Given the description of an element on the screen output the (x, y) to click on. 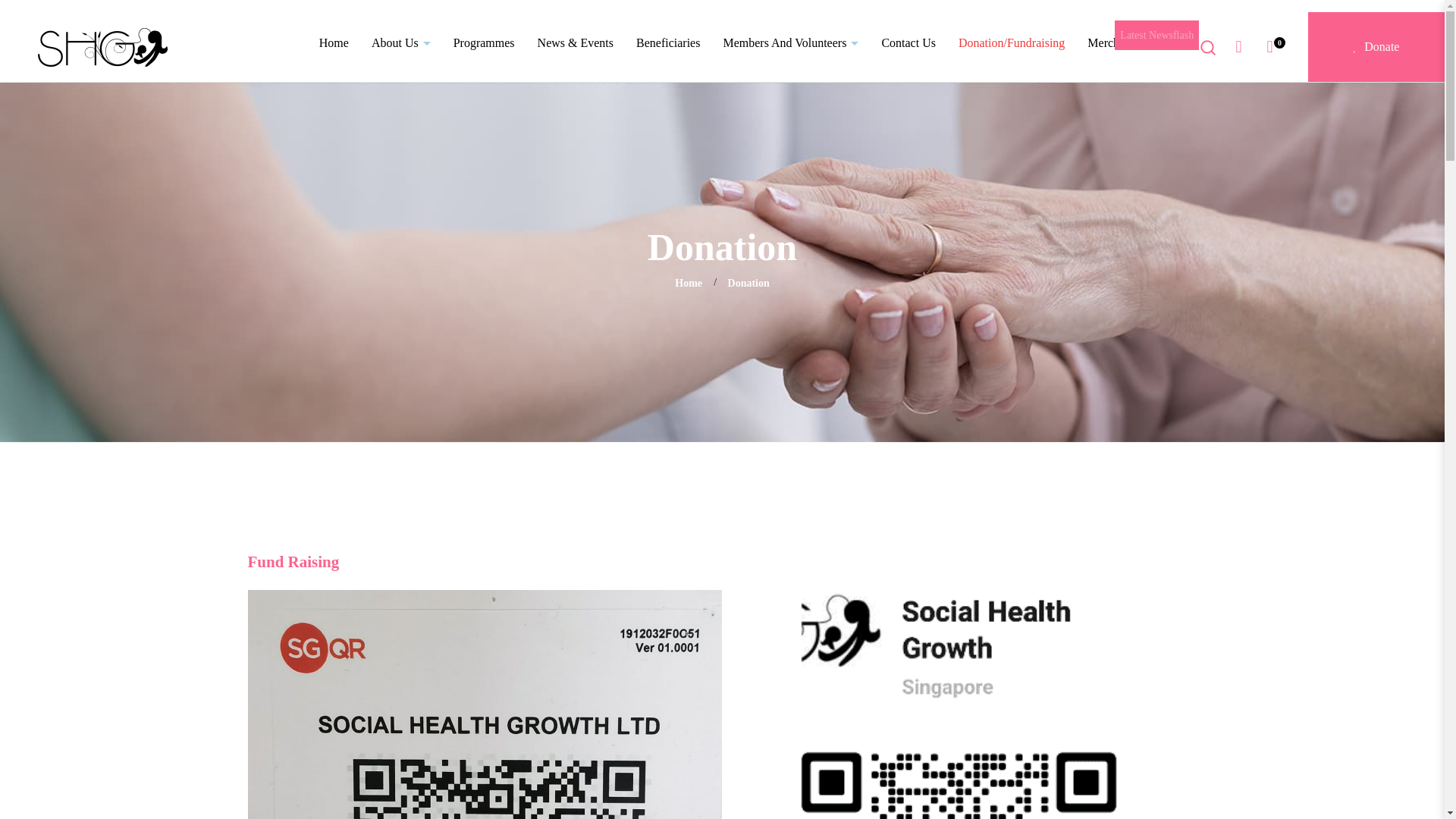
About Us (411, 43)
Members And Volunteers (801, 43)
Social Health Growth (102, 46)
Merchandise (1124, 43)
Contact Us (919, 43)
Programmes (494, 43)
Home (344, 43)
0 (1269, 46)
Donate (1376, 47)
Beneficiaries (679, 43)
